Given the description of an element on the screen output the (x, y) to click on. 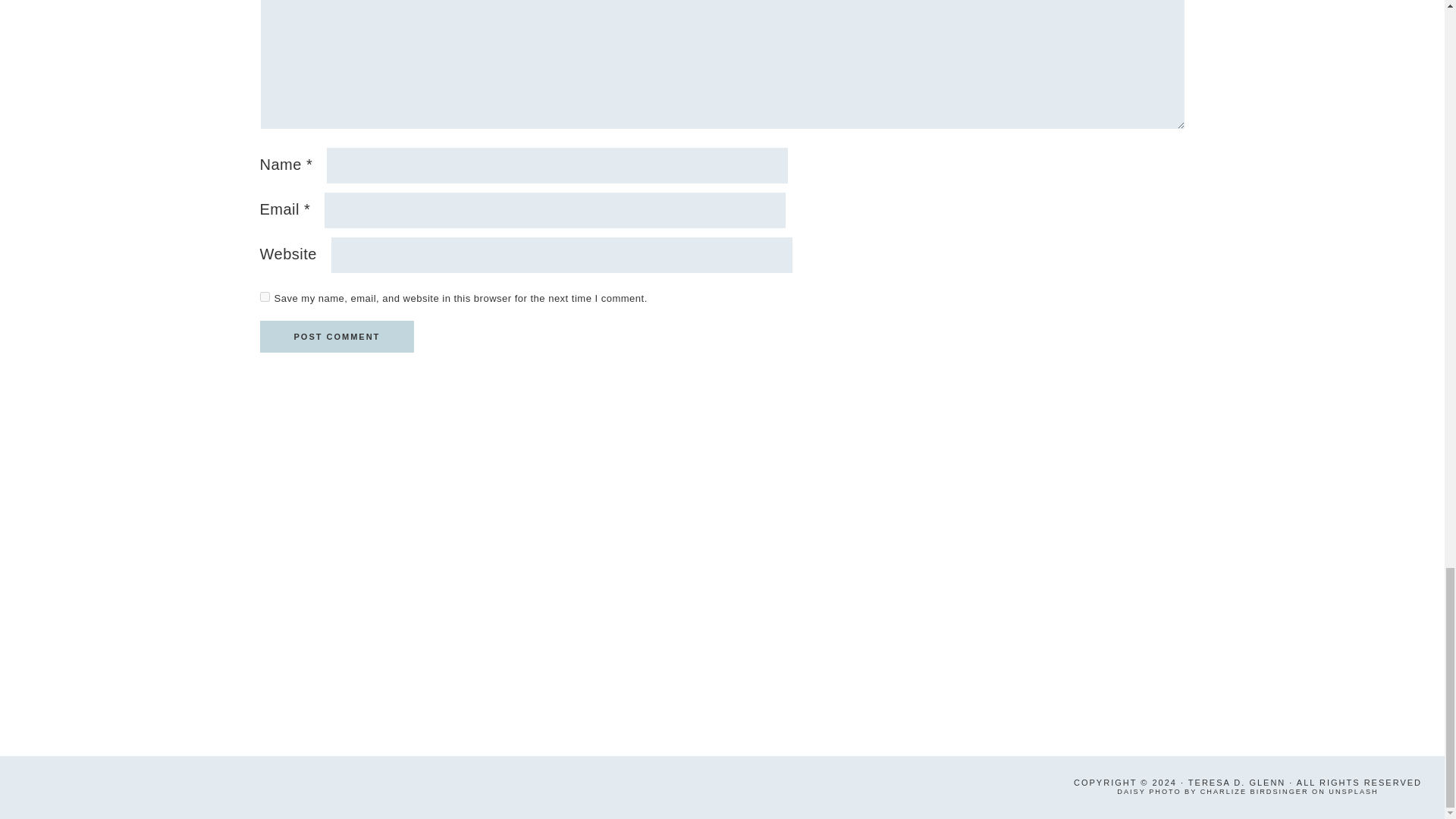
Post Comment (336, 336)
Post Comment (336, 336)
yes (264, 296)
UNSPLASH (1352, 791)
CHARLIZE BIRDSINGER (1253, 791)
